Given the description of an element on the screen output the (x, y) to click on. 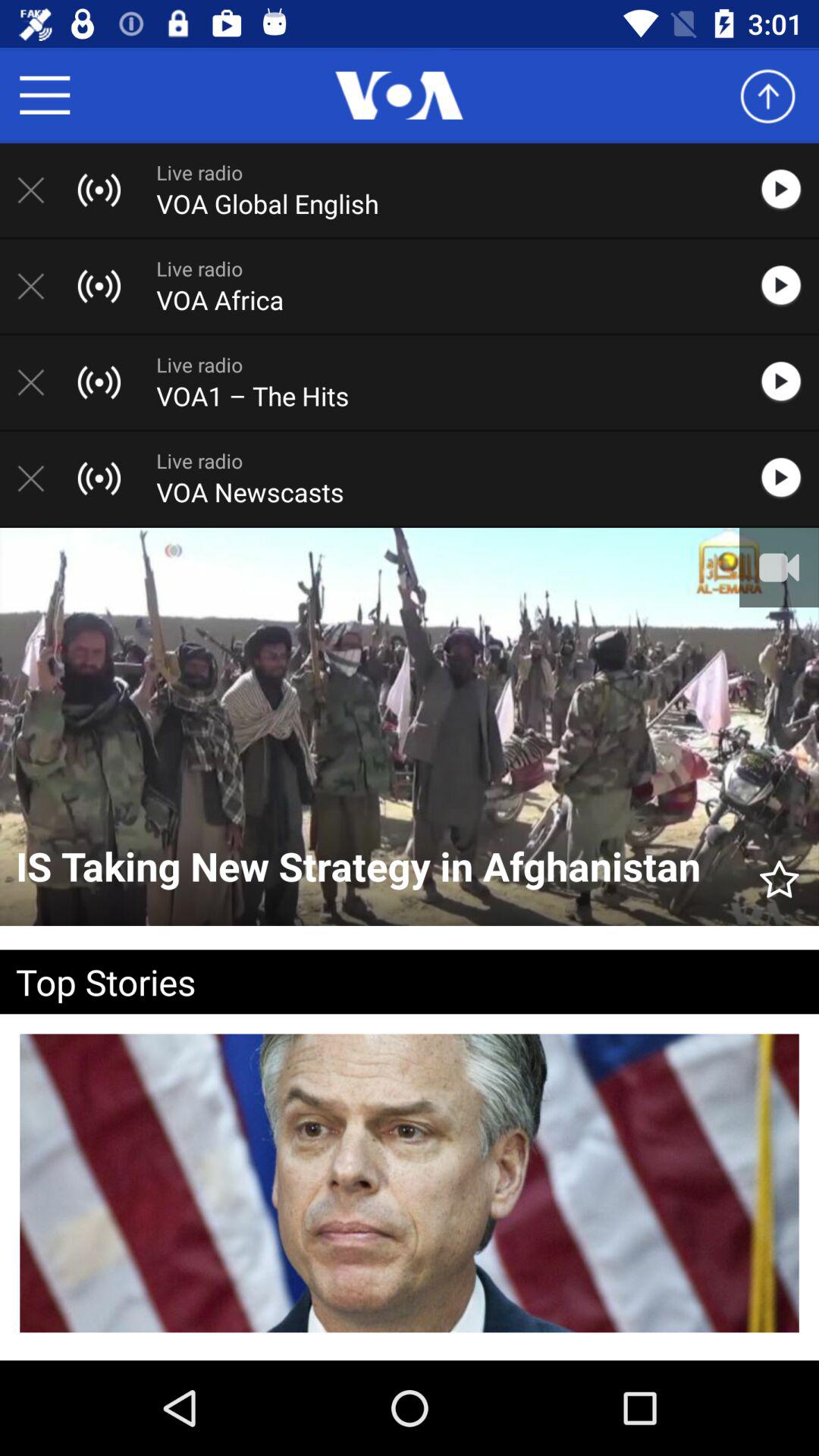
play live radio (789, 189)
